Given the description of an element on the screen output the (x, y) to click on. 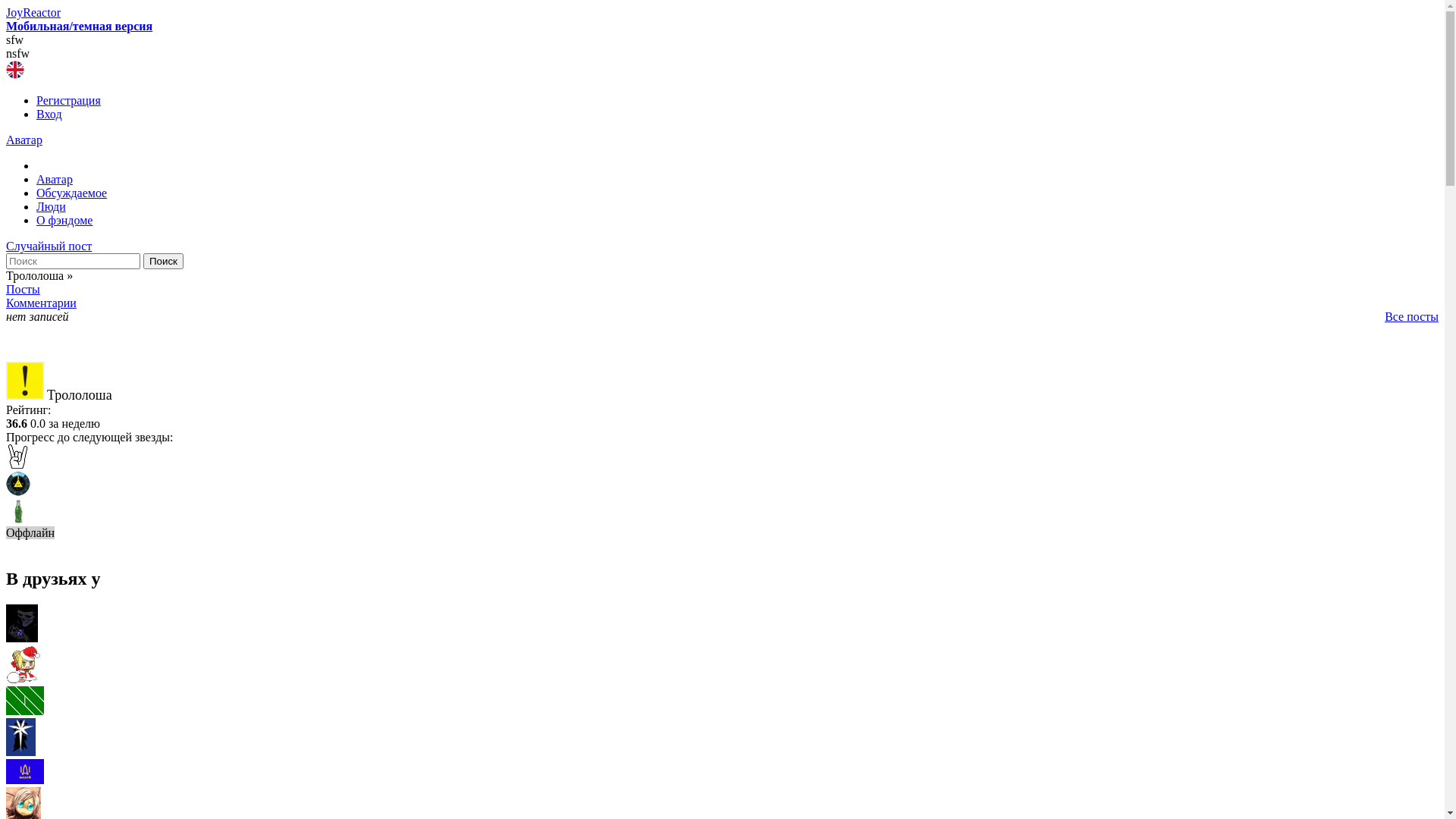
!vory Element type: hover (722, 624)
3eJIeHb Element type: hover (722, 702)
TRUST NO ONE! (Gravity Falls) Element type: hover (18, 483)
JoyReactor Element type: text (33, 12)
English version Element type: hover (15, 69)
Catgirl (male) Element type: hover (722, 665)
abadir Element type: hover (722, 738)
mumuho88 Element type: hover (722, 773)
